Given the description of an element on the screen output the (x, y) to click on. 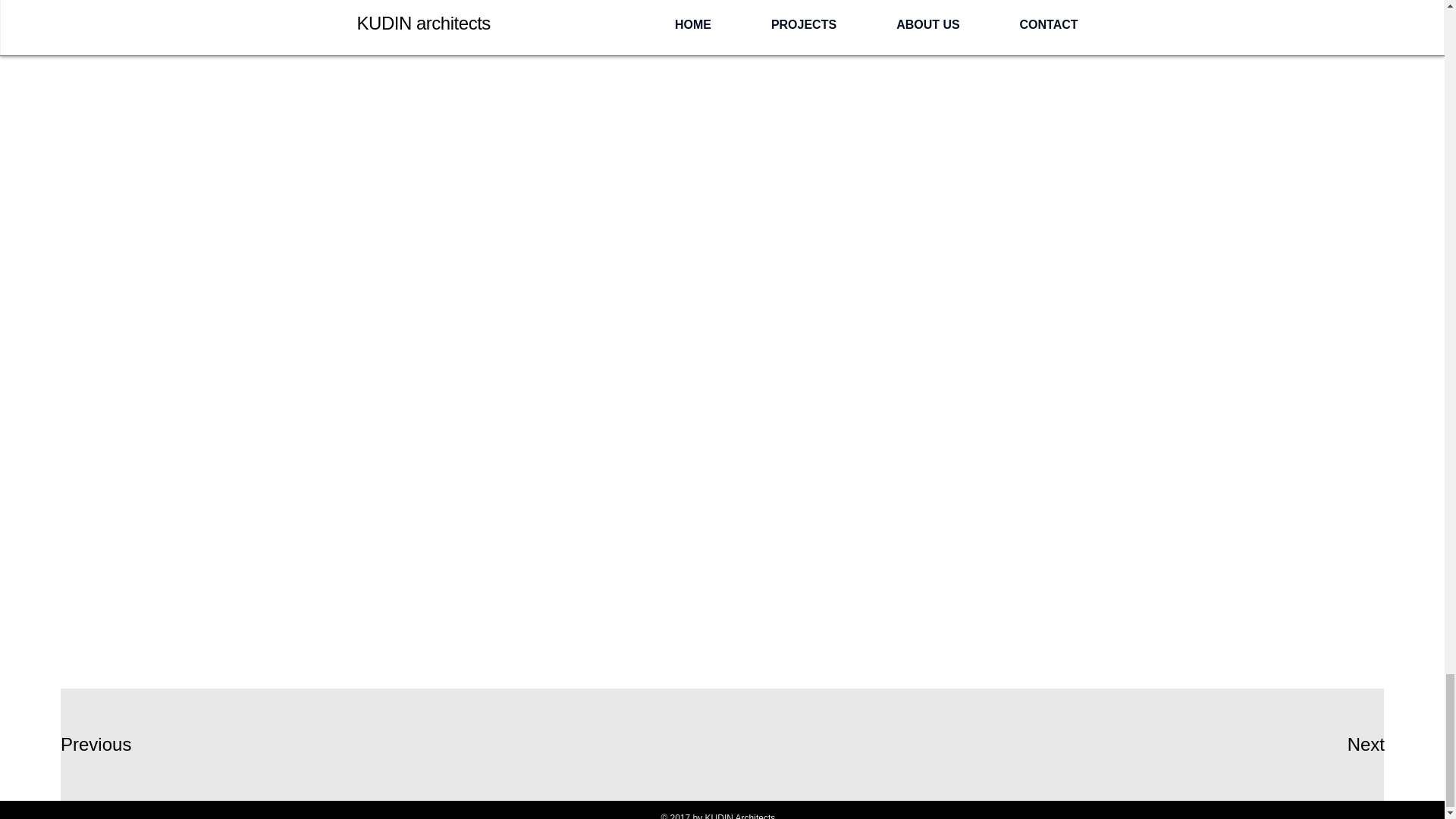
Previous (114, 744)
Next (1334, 744)
